Given the description of an element on the screen output the (x, y) to click on. 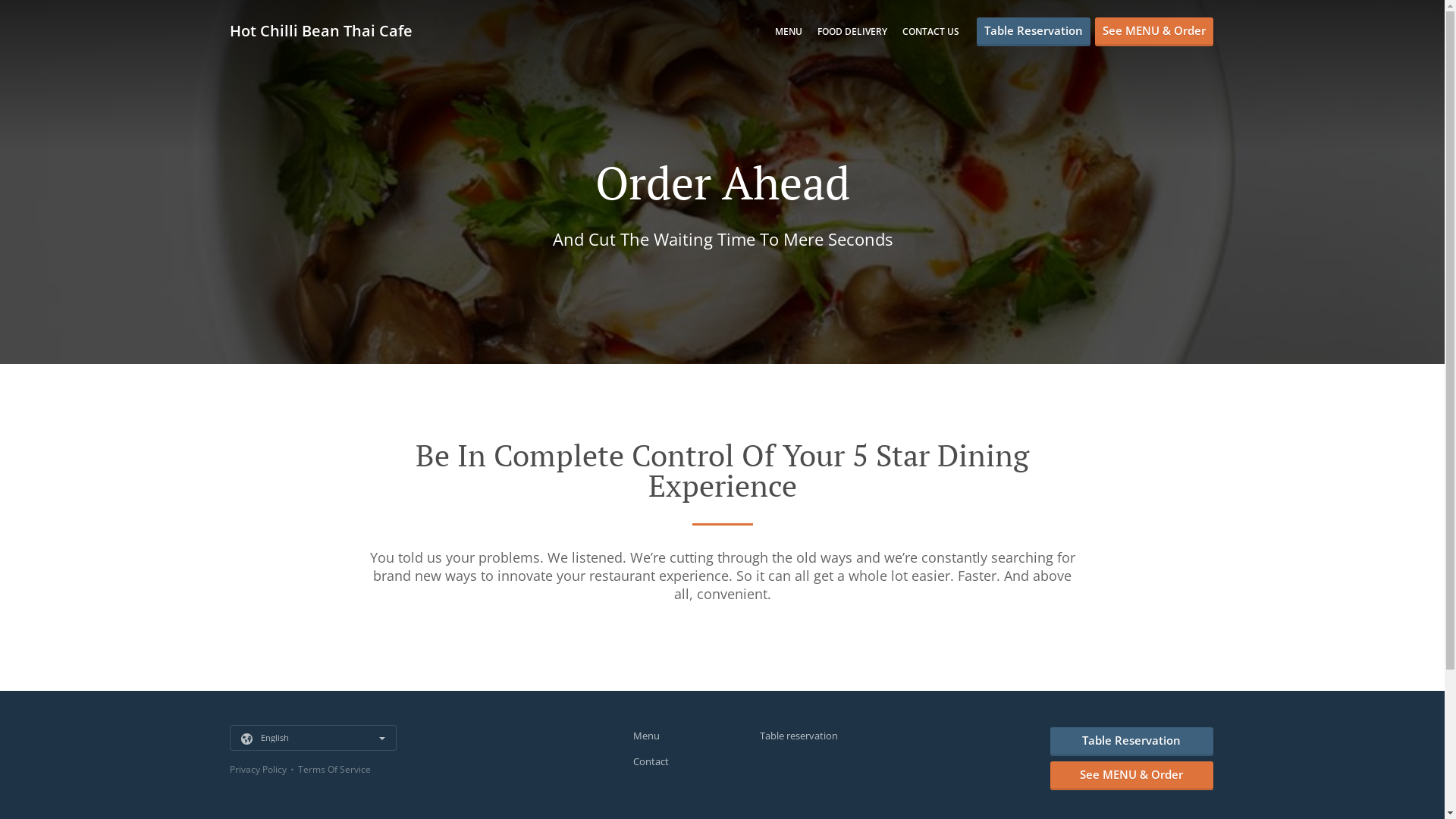
Privacy Policy Element type: text (257, 768)
Table reservation Element type: text (798, 735)
FOOD DELIVERY Element type: text (852, 31)
MENU Element type: text (788, 31)
Menu Element type: text (645, 735)
Terms Of Service Element type: text (333, 768)
Contact Element type: text (650, 761)
CONTACT US Element type: text (930, 31)
Hot Chilli Bean Thai Cafe Element type: text (327, 30)
